Given the description of an element on the screen output the (x, y) to click on. 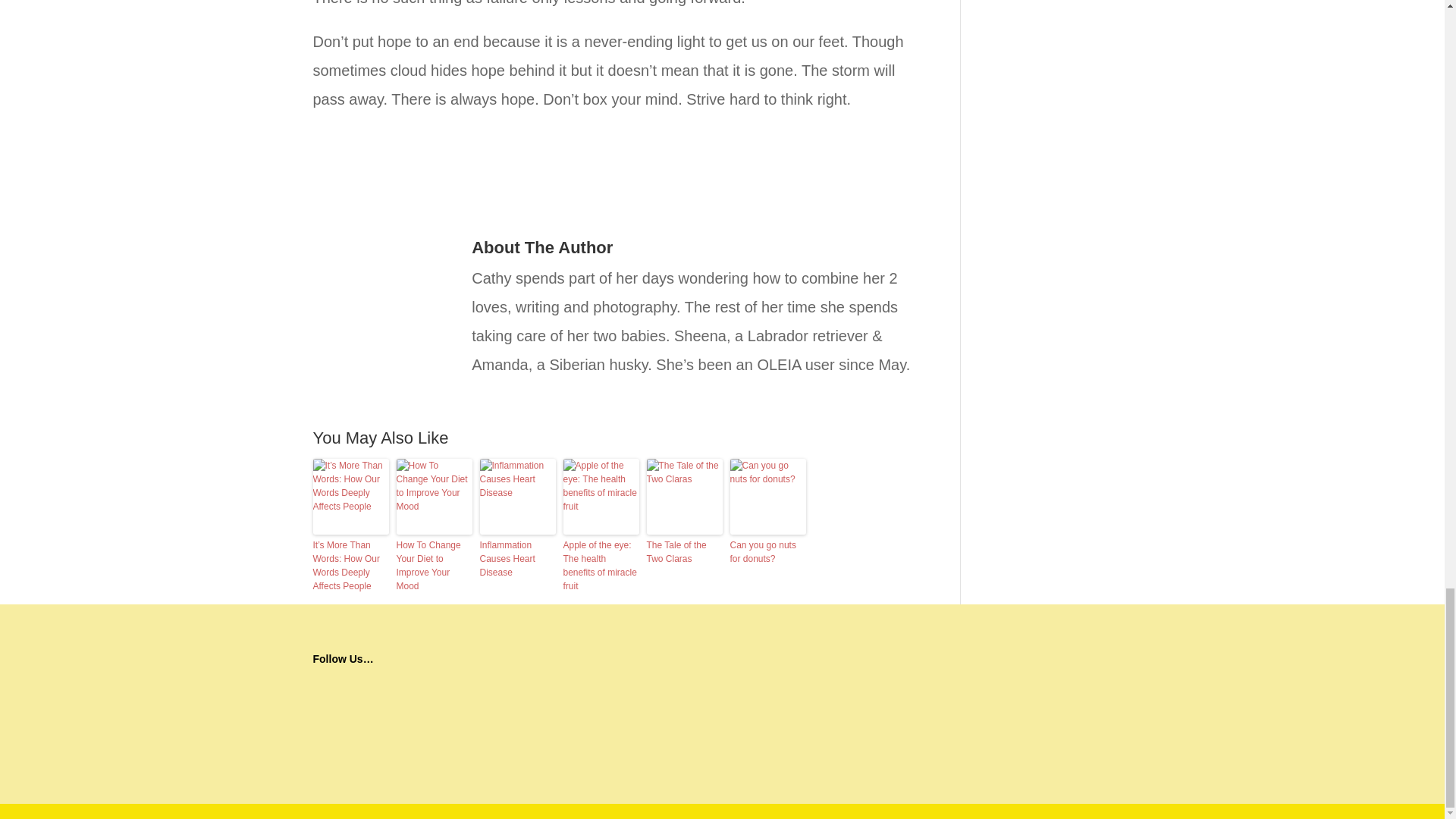
How To Change Your Diet to Improve Your Mood (433, 565)
The Tale of the Two Claras (684, 551)
Inflammation Causes Heart Disease (516, 558)
Can you go nuts for donuts? (767, 551)
Apple of the eye: The health benefits of miracle fruit (600, 565)
Facebook (385, 683)
Instagram (335, 683)
